Given the description of an element on the screen output the (x, y) to click on. 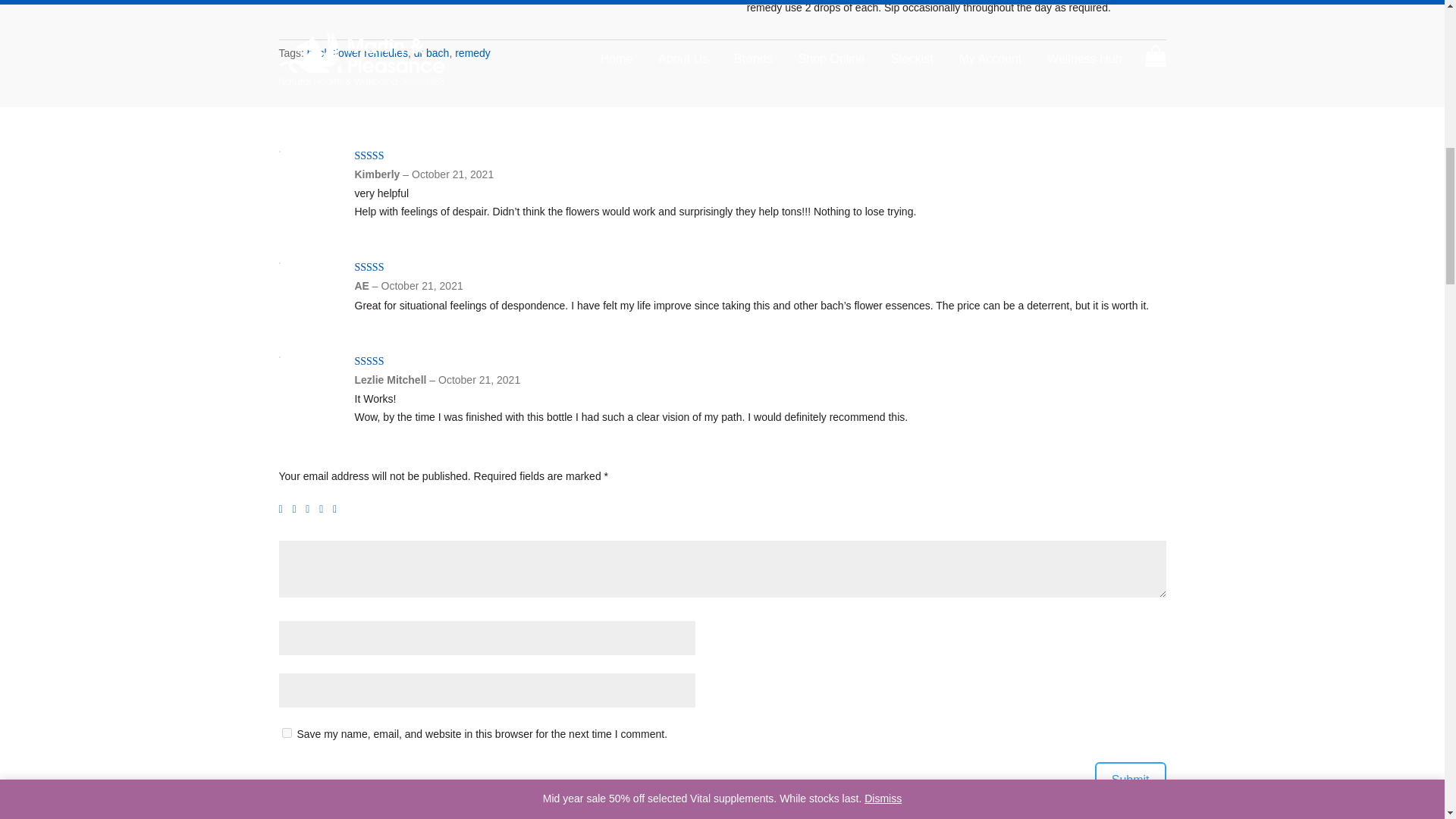
yes (287, 732)
